Given the description of an element on the screen output the (x, y) to click on. 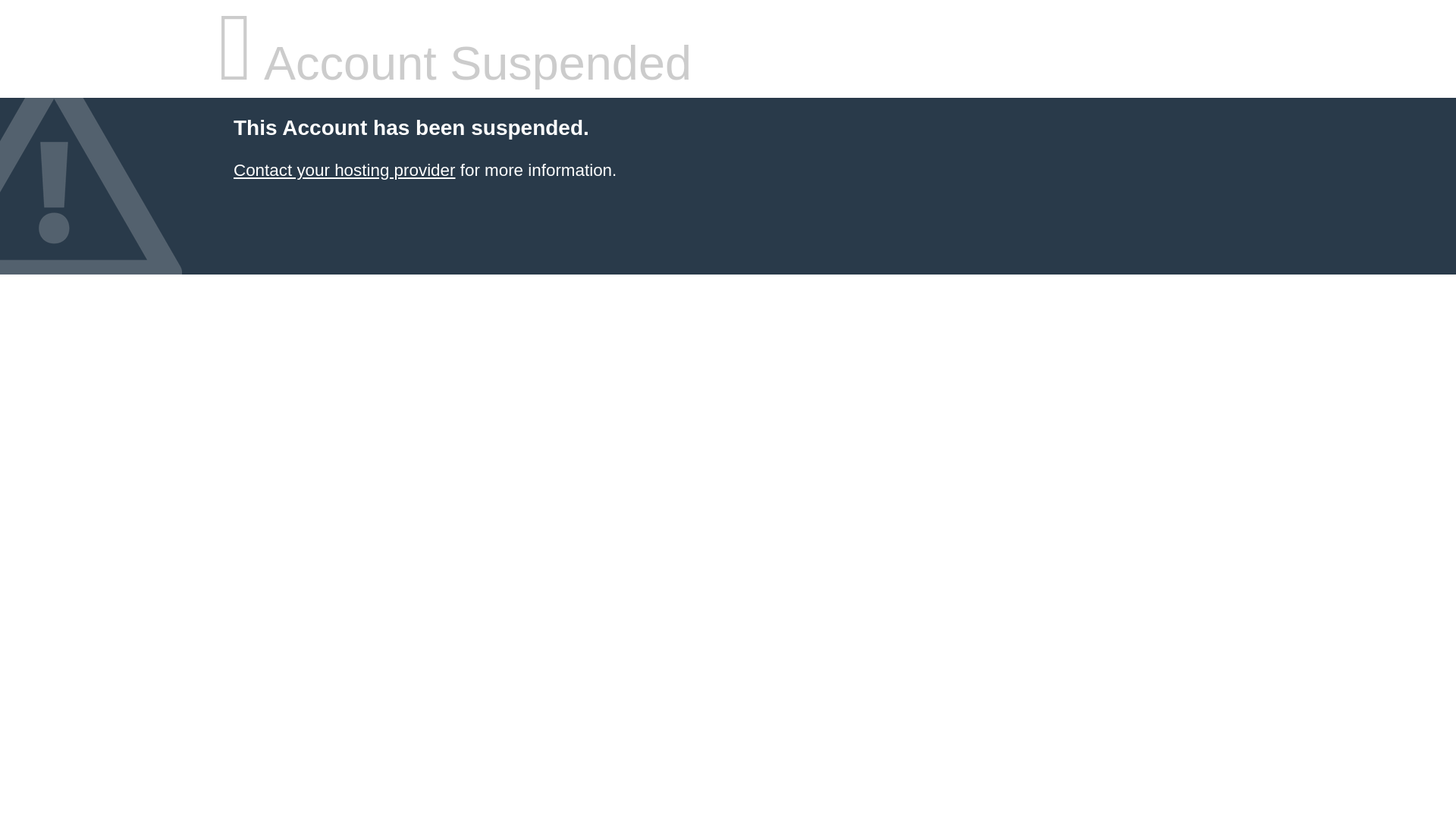
Contact your hosting provider (343, 169)
